Given the description of an element on the screen output the (x, y) to click on. 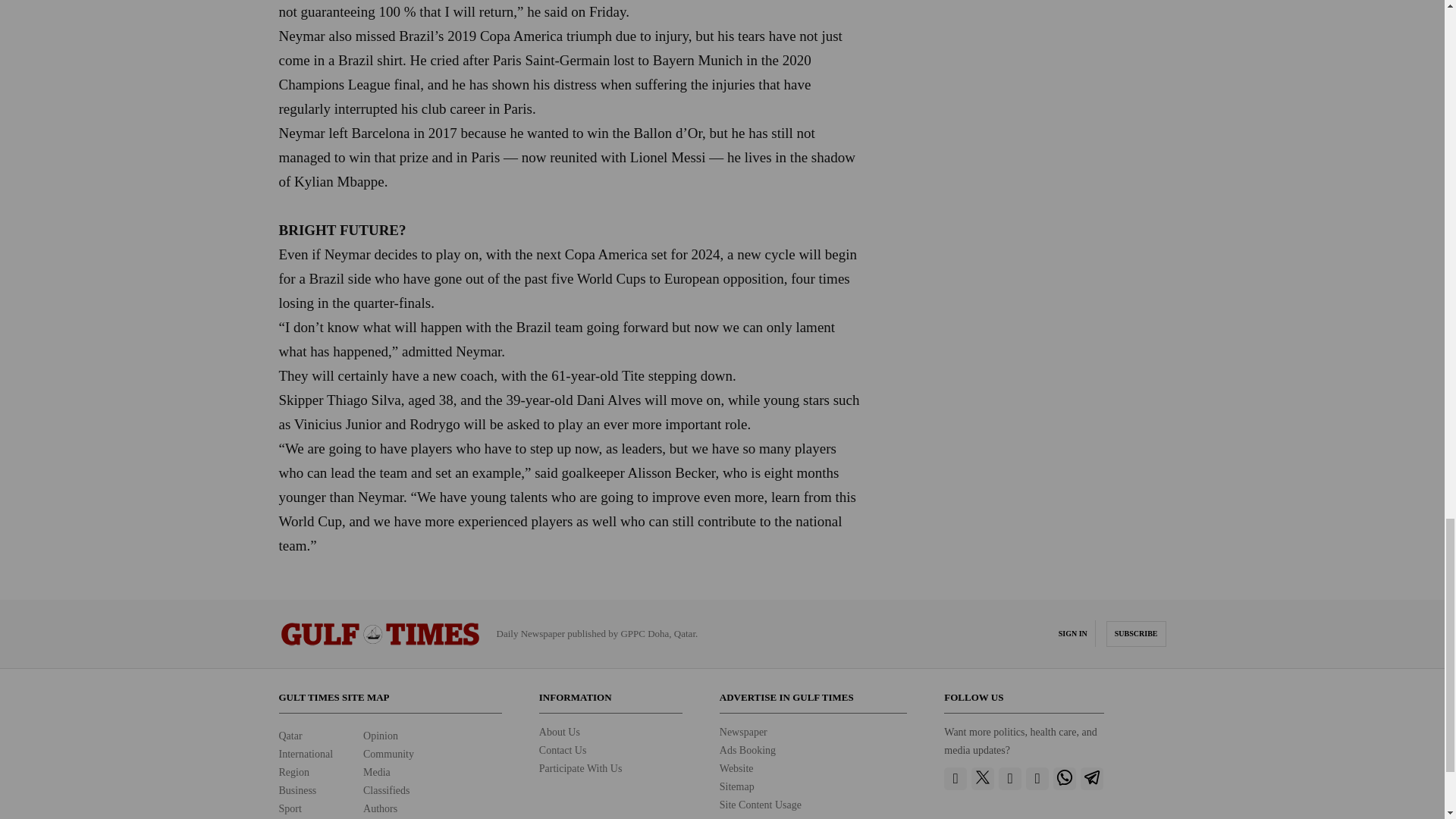
SUBSCRIBE (1136, 633)
Community (387, 754)
Opinion (379, 736)
Participate With Us (580, 767)
Qatar (290, 736)
Media (376, 772)
SIGN IN (1072, 633)
Ads Booking (747, 749)
Contact Us (562, 749)
Sport (290, 808)
Authors (379, 808)
About Us (558, 731)
Newspaper (743, 731)
Website (736, 767)
International (306, 754)
